Given the description of an element on the screen output the (x, y) to click on. 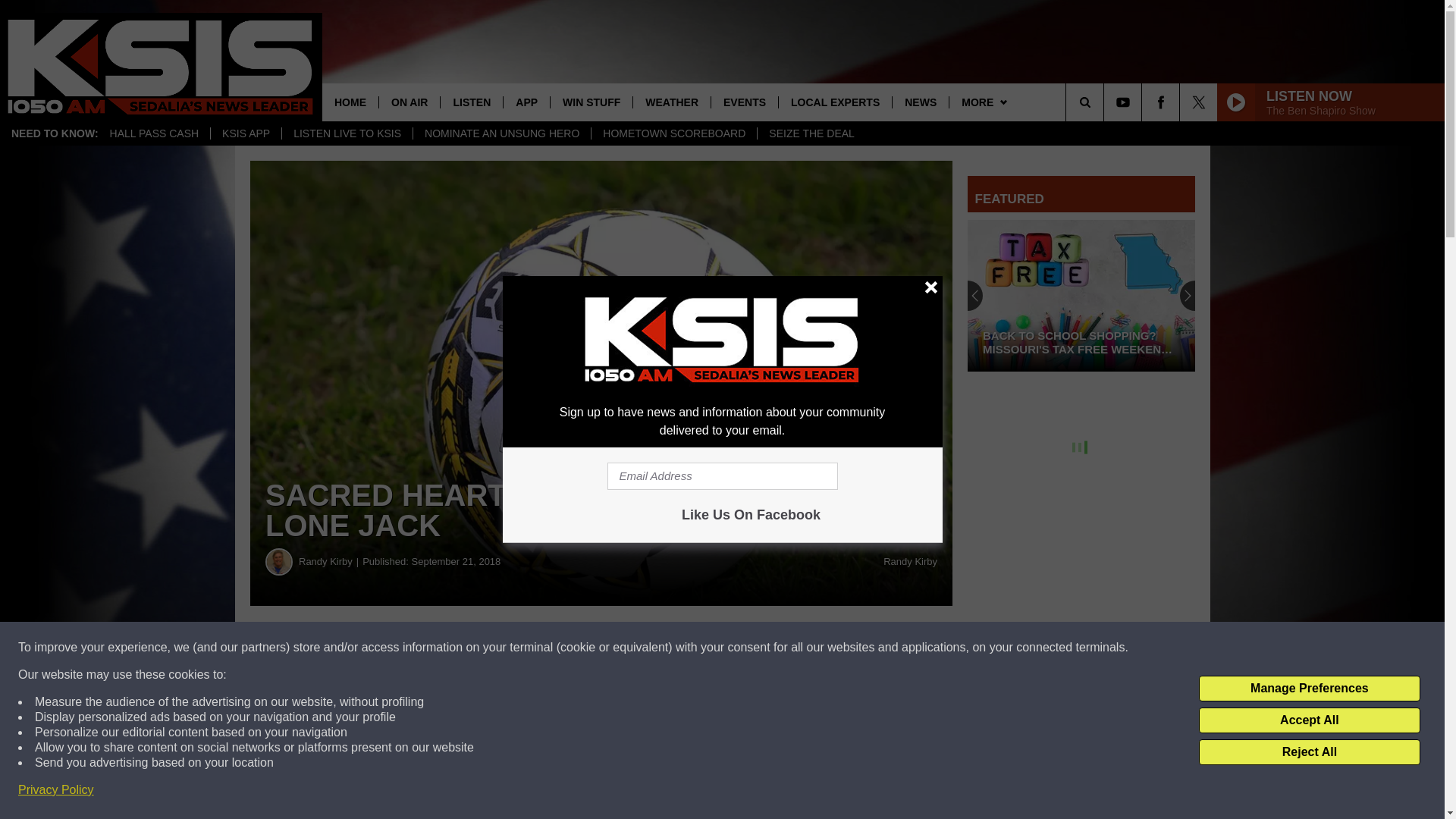
Share on Facebook (460, 647)
Share on Twitter (741, 647)
Manage Preferences (1309, 688)
Privacy Policy (55, 789)
EVENTS (743, 102)
KSIS APP (245, 133)
WIN STUFF (590, 102)
SEARCH (1106, 102)
SEARCH (1106, 102)
LOCAL EXPERTS (834, 102)
SEIZE THE DEAL (811, 133)
NEWS (920, 102)
WEATHER (670, 102)
Email Address (722, 475)
LISTEN (470, 102)
